Given the description of an element on the screen output the (x, y) to click on. 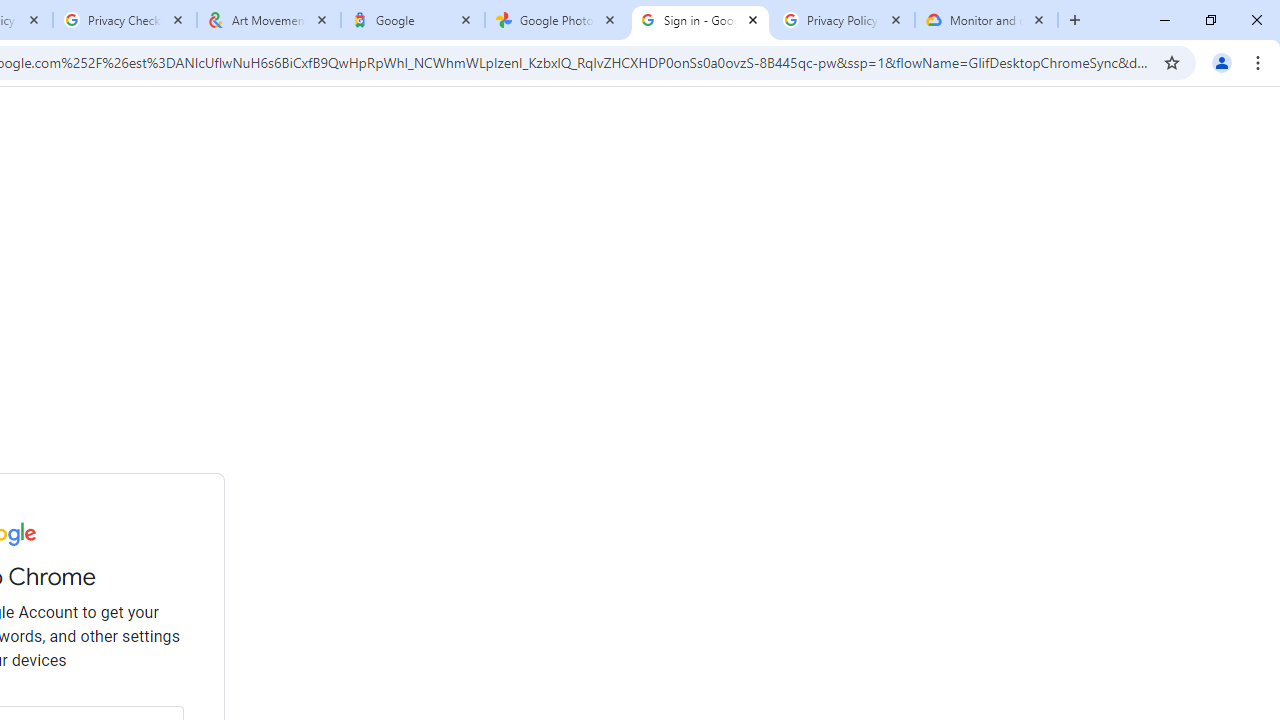
Privacy Checkup (124, 20)
Sign in - Google Accounts (699, 20)
Google (412, 20)
